Given the description of an element on the screen output the (x, y) to click on. 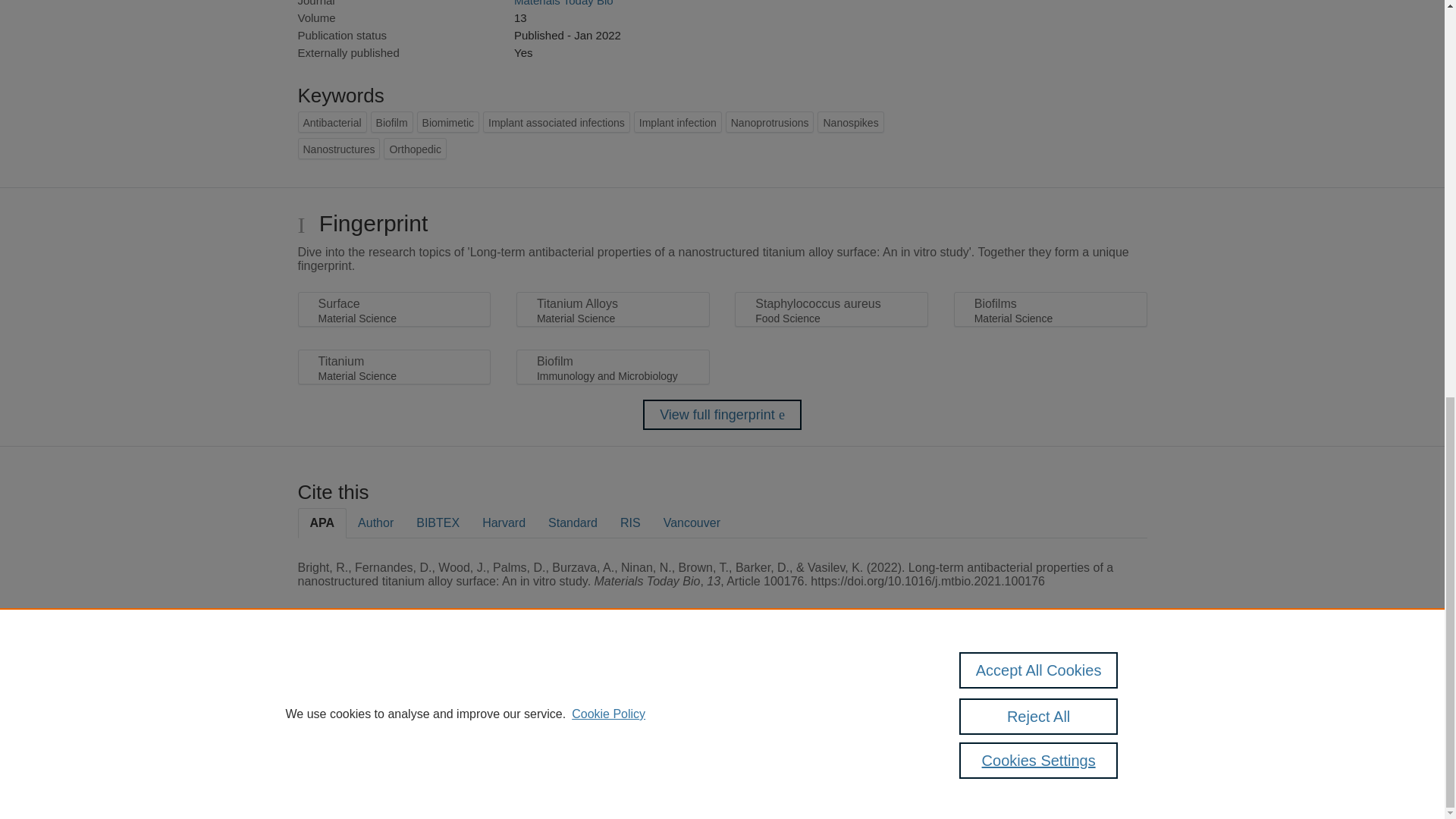
Cookies Settings (334, 760)
Elsevier B.V. (506, 707)
Materials Today Bio (562, 3)
Pure (362, 686)
Scopus (394, 686)
use of cookies (796, 739)
View full fingerprint (722, 414)
